Given the description of an element on the screen output the (x, y) to click on. 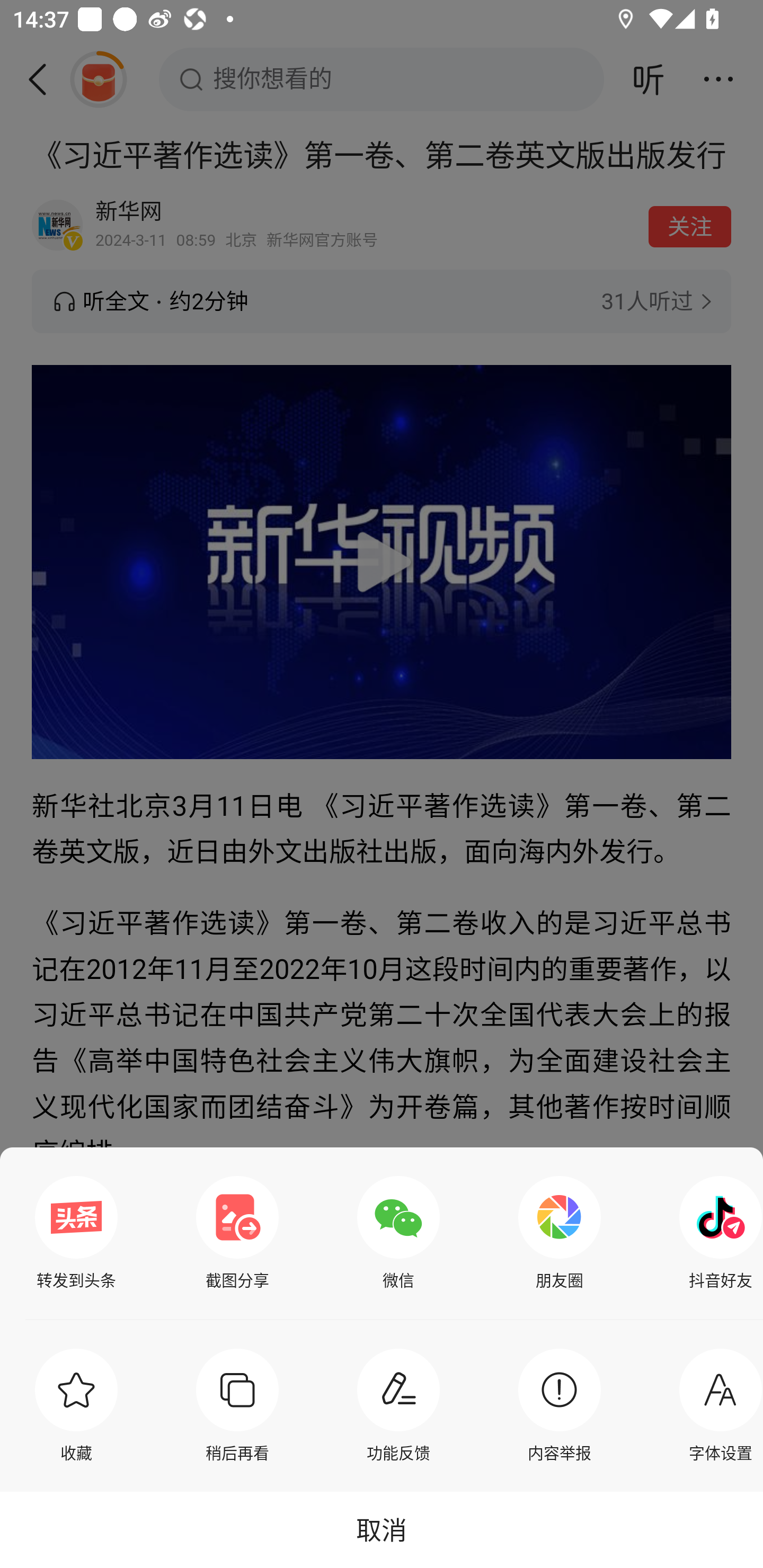
转发到头条 (76, 1232)
截图分享 (237, 1232)
微信 (398, 1232)
朋友圈 (559, 1232)
抖音好友 (716, 1232)
收藏 (76, 1405)
稍后再看 (237, 1405)
功能反馈 (398, 1405)
内容举报 (559, 1405)
字体设置 (716, 1405)
取消 (381, 1529)
